Given the description of an element on the screen output the (x, y) to click on. 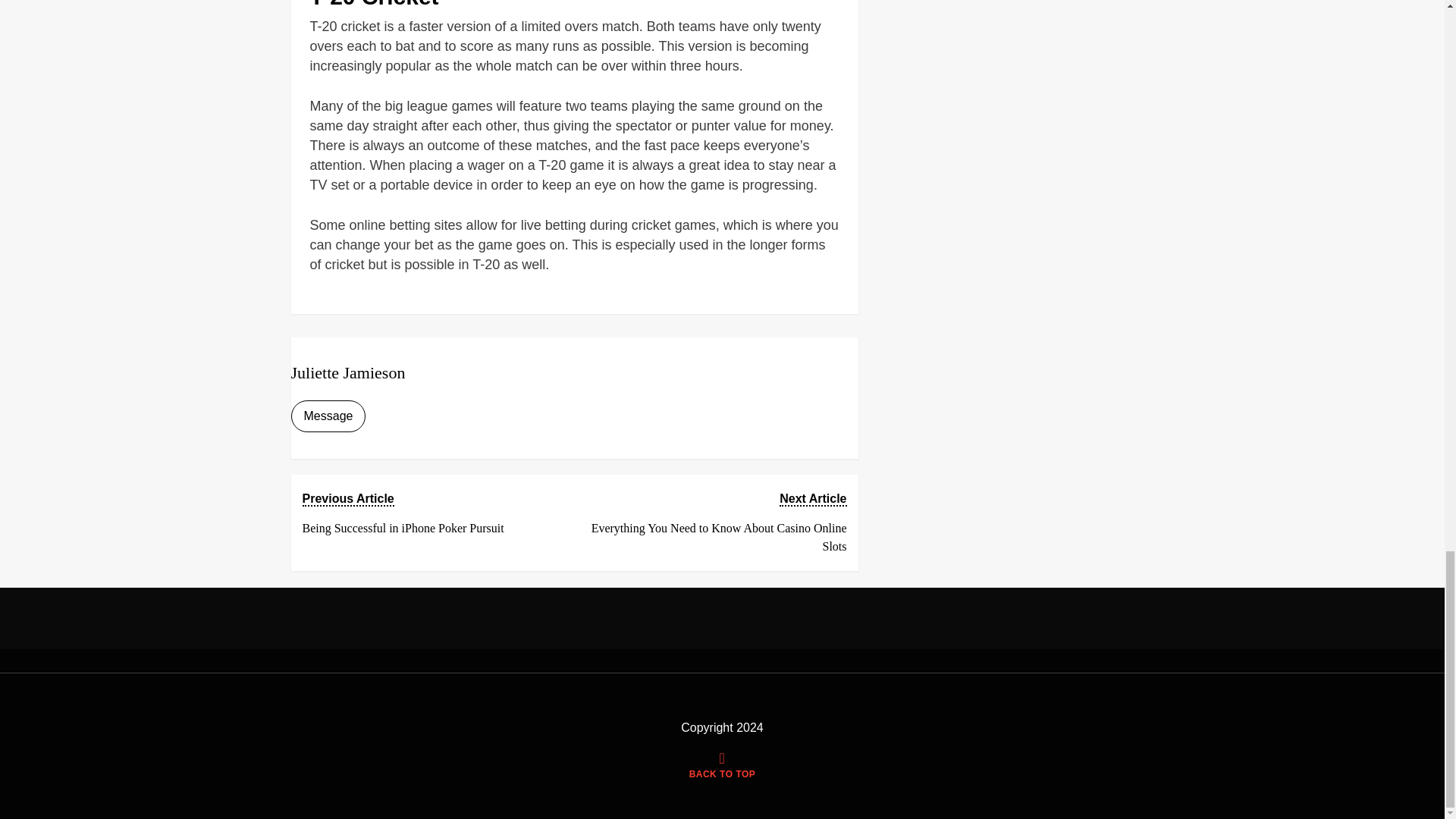
Juliette Jamieson (348, 372)
Message (328, 416)
BACK TO TOP (431, 513)
Posts by Juliette Jamieson (721, 766)
